Given the description of an element on the screen output the (x, y) to click on. 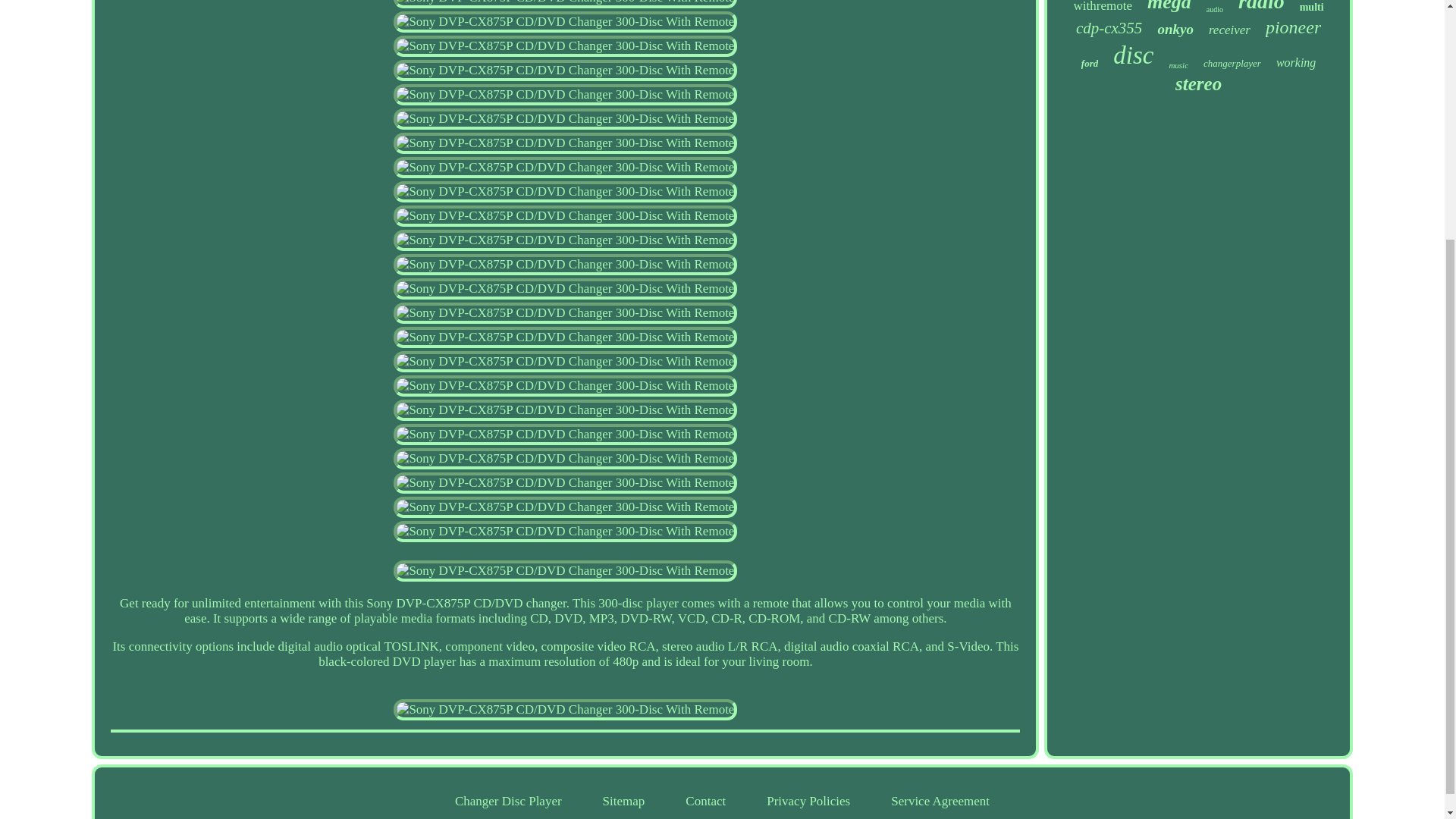
mega (1169, 6)
multi (1311, 7)
radio (1261, 6)
onkyo (1175, 29)
receiver (1229, 29)
withremote (1103, 6)
cdp-cx355 (1108, 27)
audio (1215, 8)
